Given the description of an element on the screen output the (x, y) to click on. 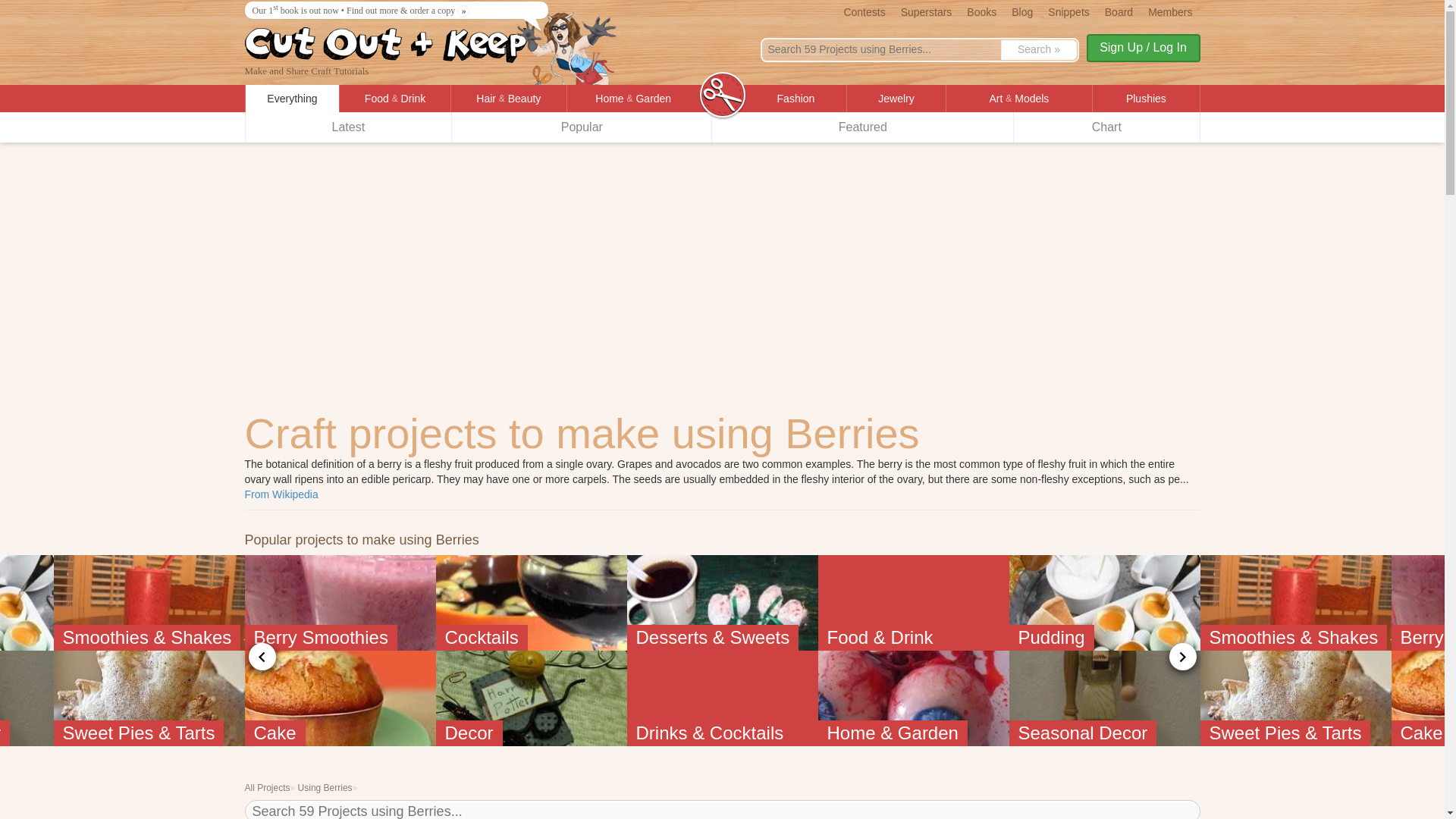
Everything (292, 98)
Advertisement (721, 153)
Board (1118, 10)
Books (981, 10)
Superstars (926, 10)
Snippets (1068, 10)
Blog (1022, 10)
Members (1169, 10)
Contests (863, 10)
